Given the description of an element on the screen output the (x, y) to click on. 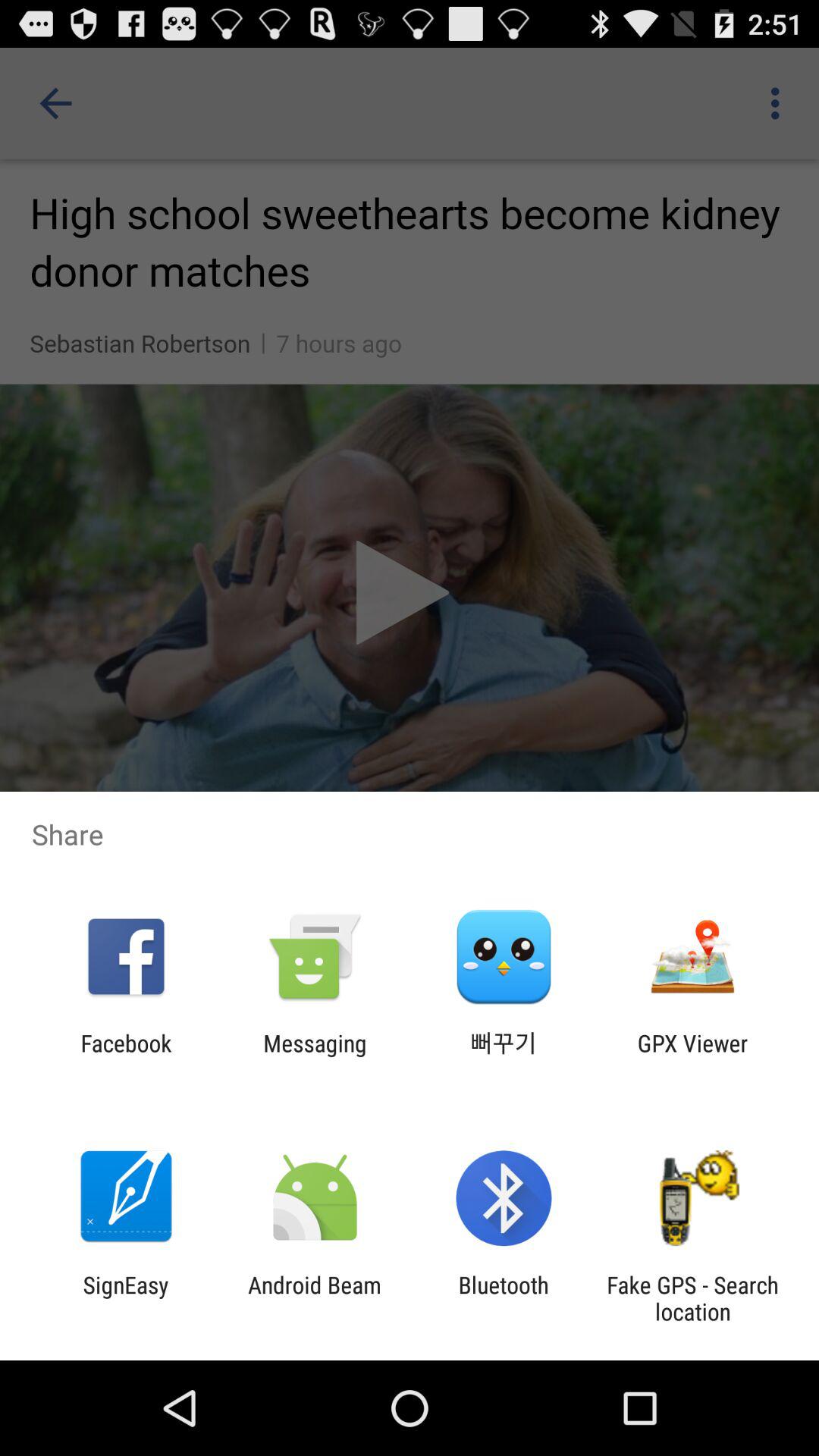
click the app to the left of the android beam item (125, 1298)
